Given the description of an element on the screen output the (x, y) to click on. 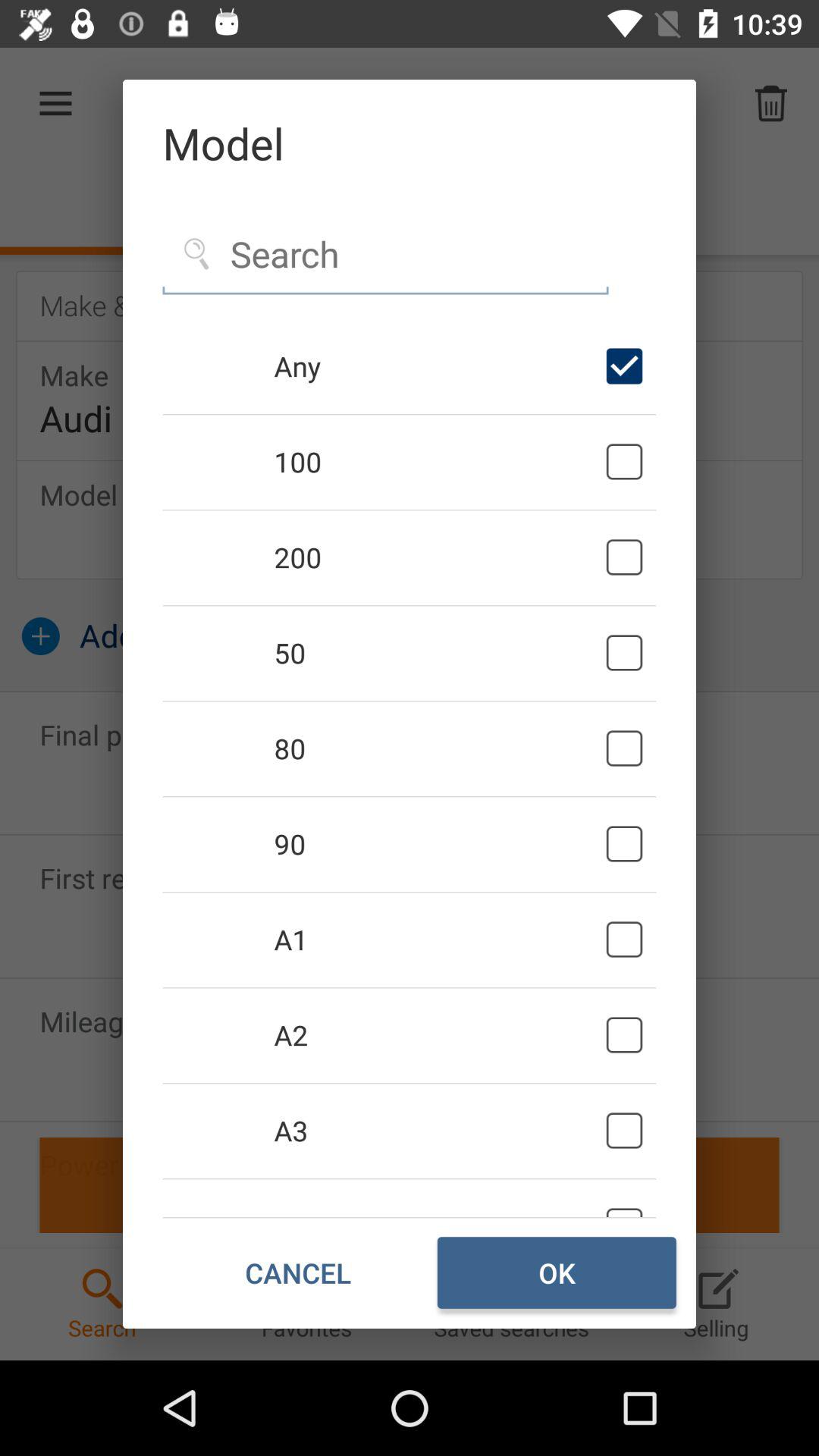
launch a1 (437, 939)
